Given the description of an element on the screen output the (x, y) to click on. 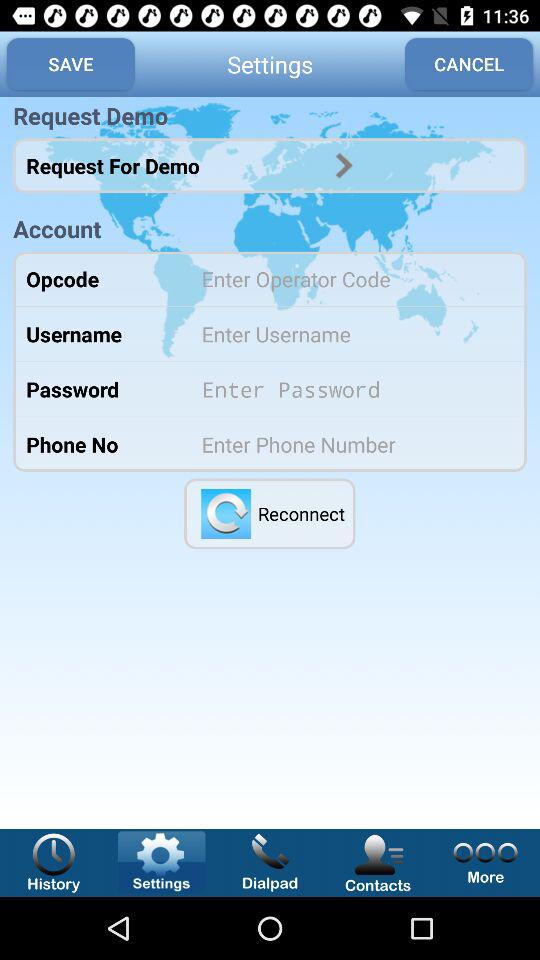
reopened the applications and reconnected to the internet (226, 513)
